Given the description of an element on the screen output the (x, y) to click on. 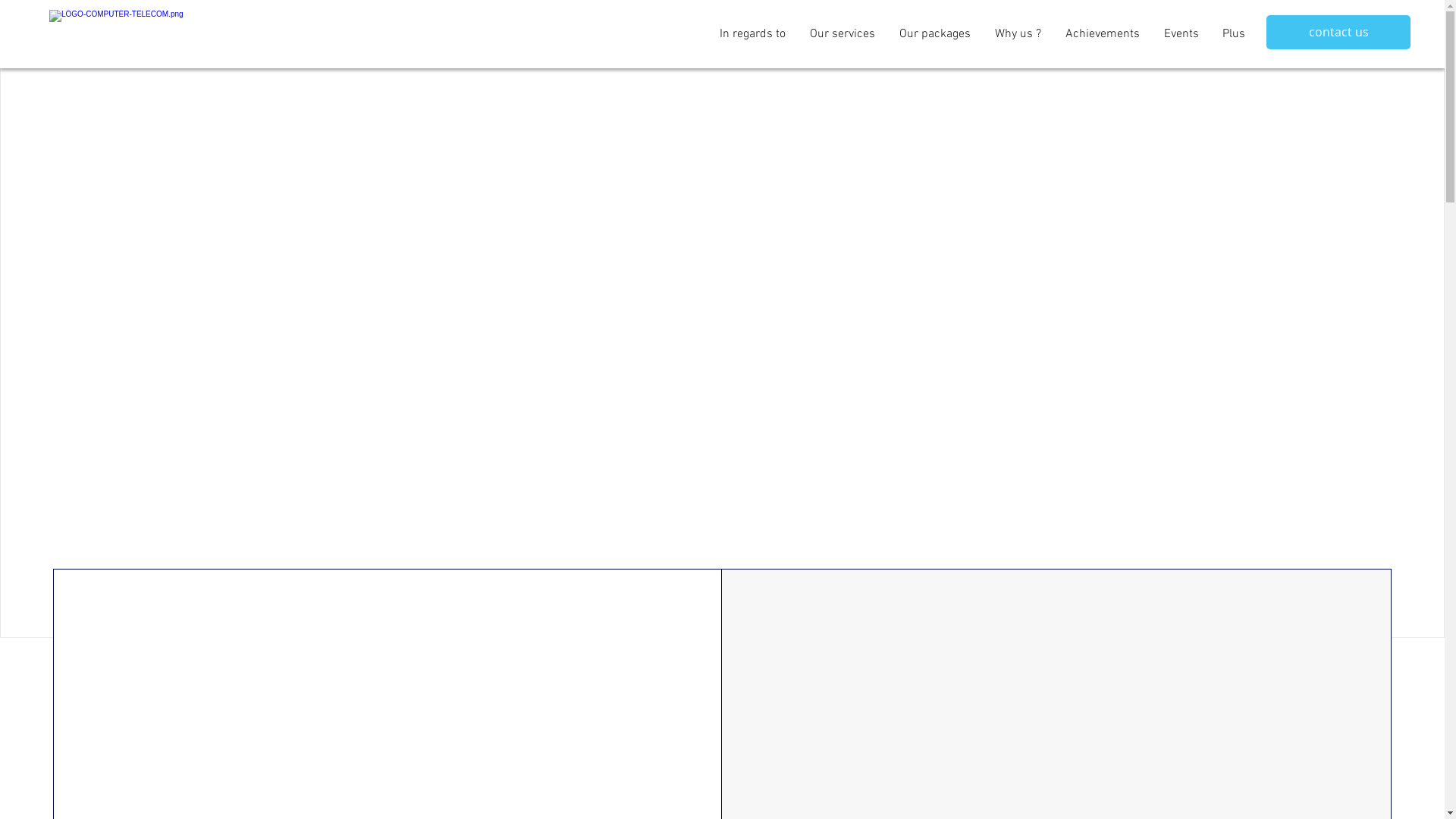
contact us Element type: text (1338, 32)
Why us ? Element type: text (1017, 34)
Achievements Element type: text (1101, 34)
Events Element type: text (1180, 34)
Our packages Element type: text (934, 34)
